Given the description of an element on the screen output the (x, y) to click on. 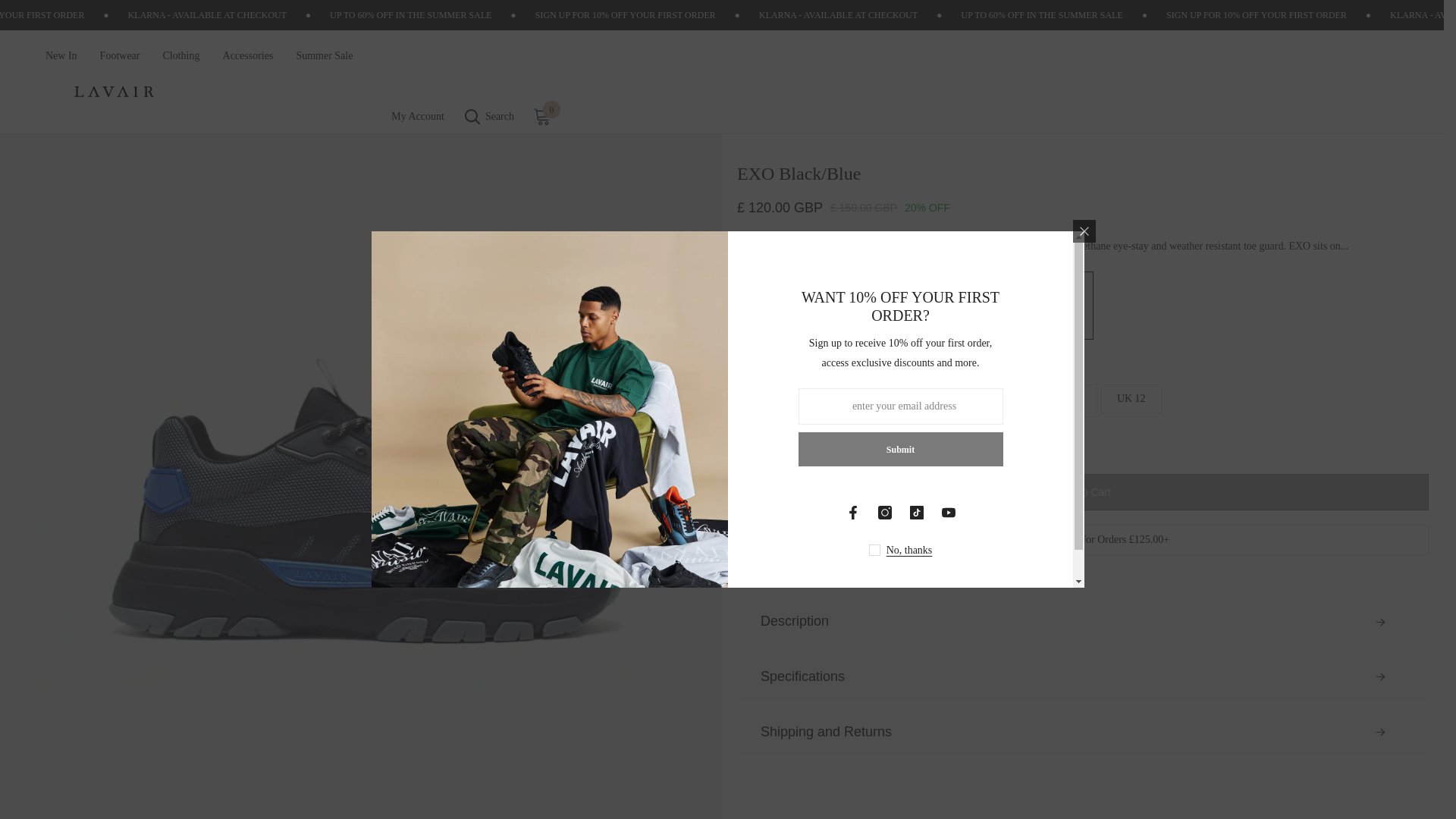
KLARNA - AVAILABLE AT CHECKOUT (304, 14)
KLARNA - AVAILABLE AT CHECKOUT (934, 14)
New In (60, 61)
Footwear (119, 61)
